Given the description of an element on the screen output the (x, y) to click on. 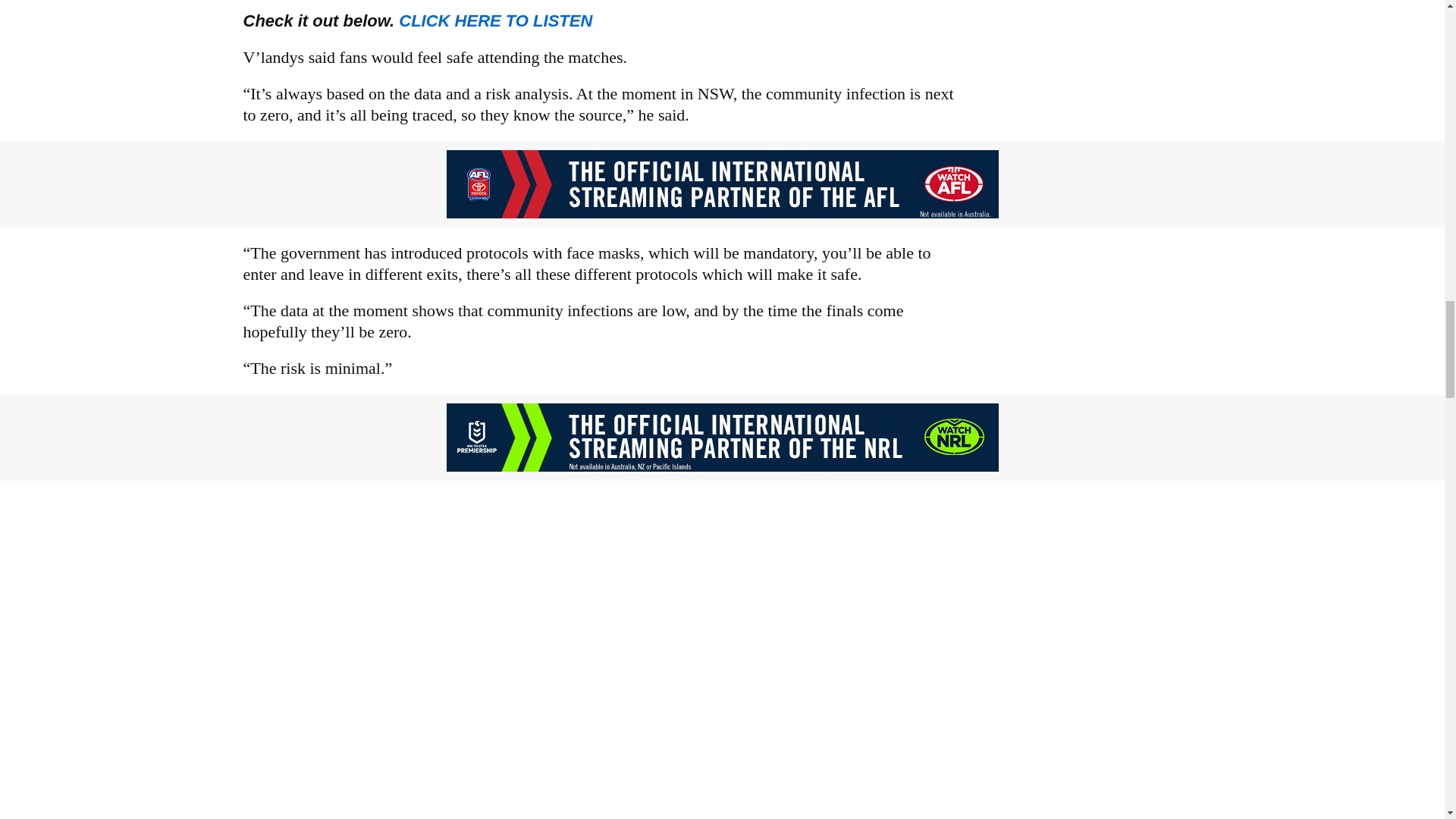
3rd party ad content (721, 183)
podcasts.apple.com (495, 20)
CLICK HERE TO LISTEN (495, 20)
3rd party ad content (721, 437)
